Given the description of an element on the screen output the (x, y) to click on. 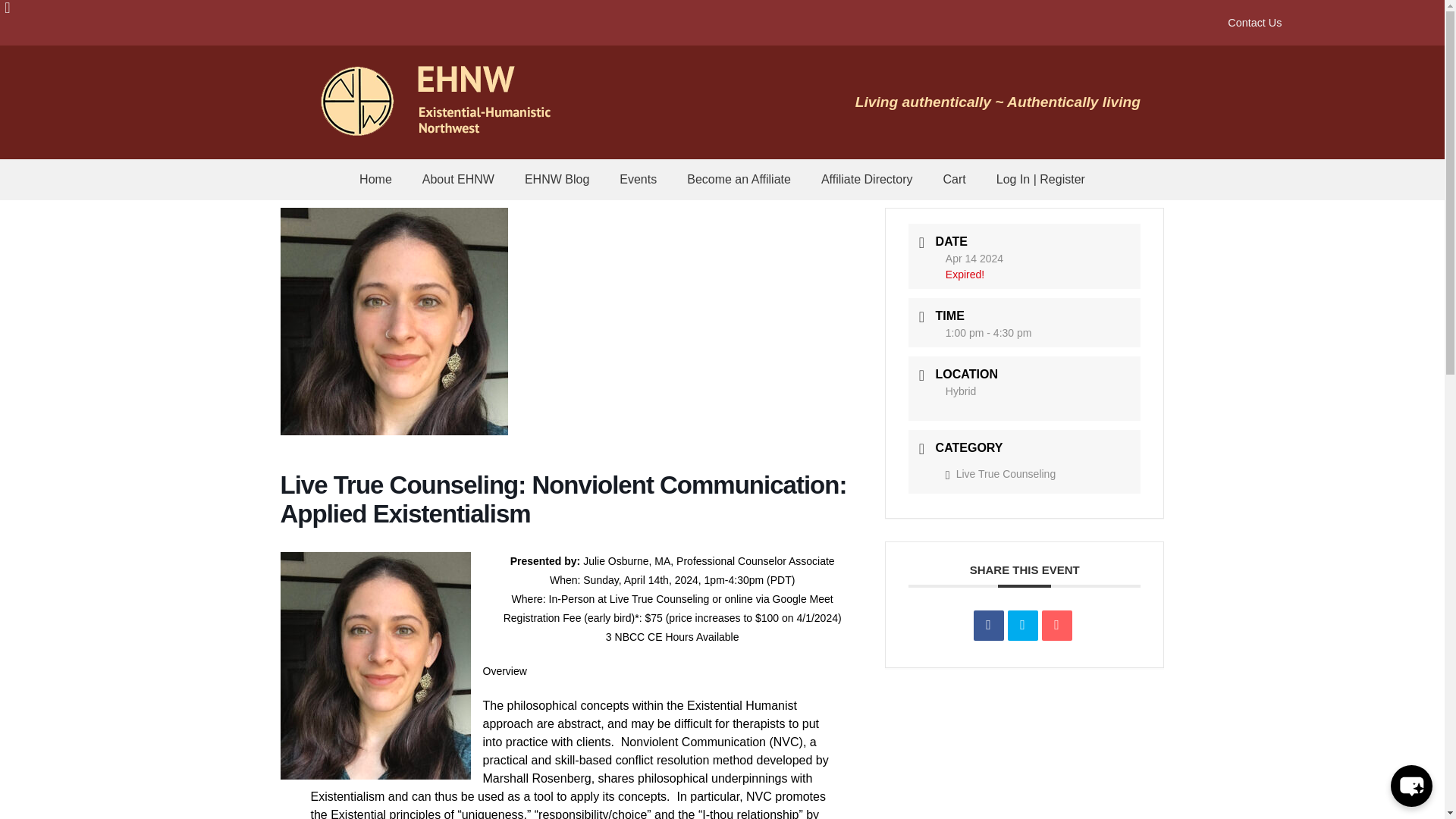
Cart (954, 179)
Tweet (1022, 625)
Become an Affiliate (738, 179)
Email (1056, 625)
EHNW Blog (556, 179)
Affiliate Directory (867, 179)
Home (375, 179)
About EHNW (458, 179)
Share on Facebook (989, 625)
Events (637, 179)
Live True Counseling (999, 473)
Contact Us (1254, 22)
